Given the description of an element on the screen output the (x, y) to click on. 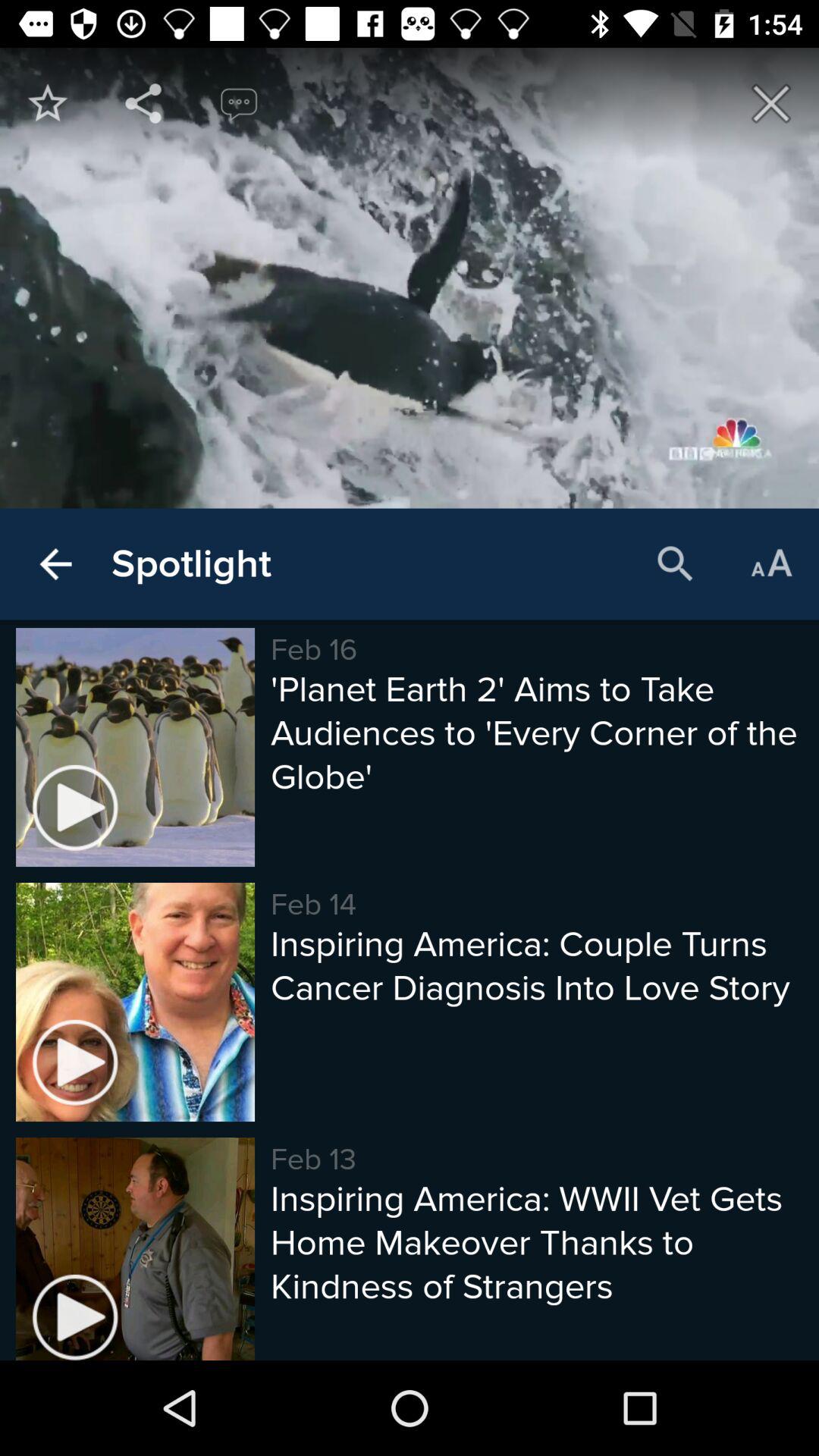
turn on spotlight icon (191, 563)
